Given the description of an element on the screen output the (x, y) to click on. 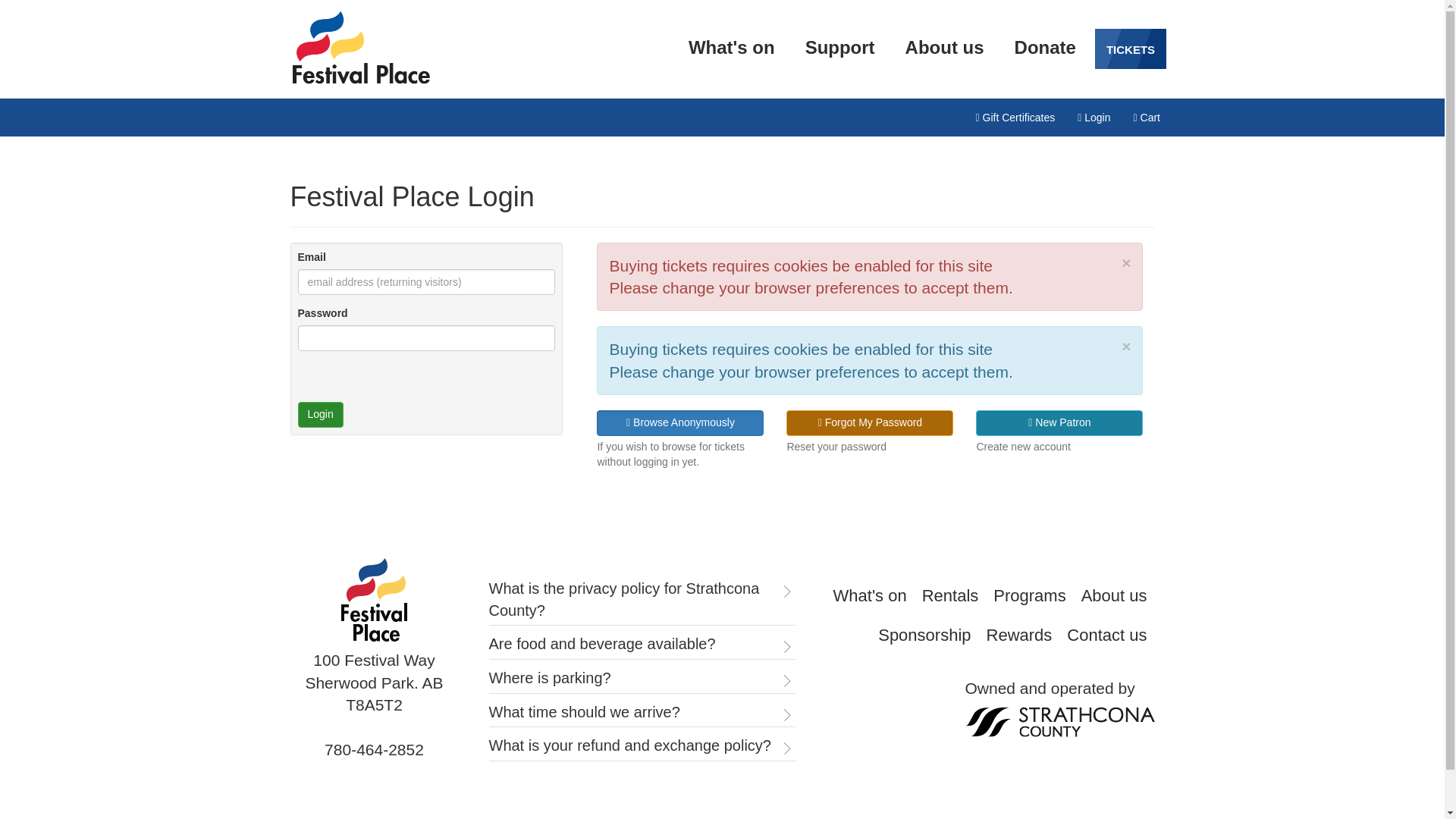
New Patron (1058, 422)
Login (1093, 117)
Contact us (1107, 635)
Support (839, 47)
What's on (869, 595)
Browse Anonymously (679, 422)
Rewards (1019, 635)
Login (319, 414)
Cart (1147, 117)
TICKETS (1130, 48)
Forgot My Password (869, 422)
Rentals (949, 595)
What's on (731, 47)
About us (944, 47)
Donate (1045, 47)
